Given the description of an element on the screen output the (x, y) to click on. 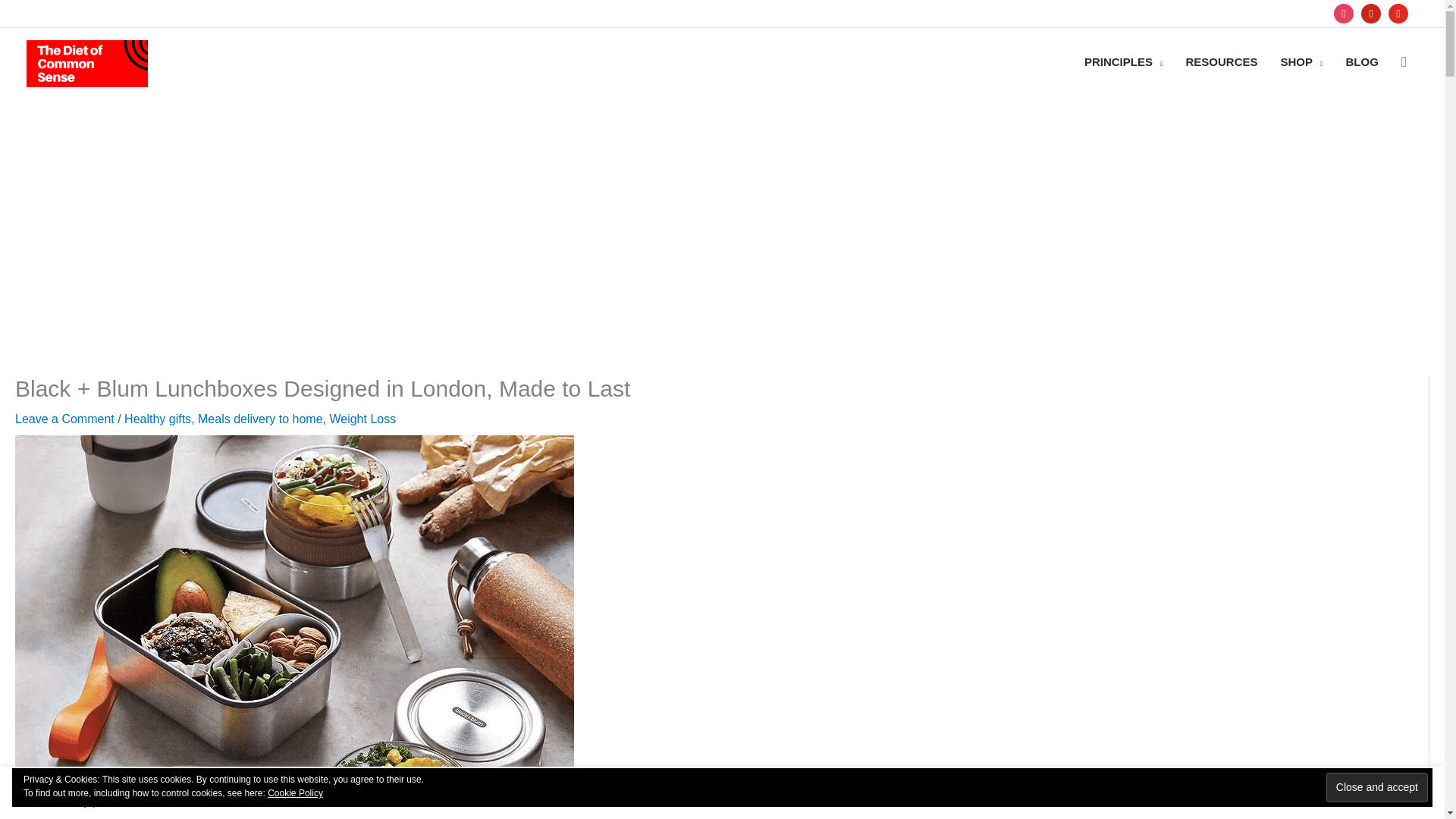
RESOURCES (1220, 62)
SHOP (1302, 62)
Close and accept (1377, 787)
PRINCIPLES (1123, 62)
BLOG (1362, 62)
